Given the description of an element on the screen output the (x, y) to click on. 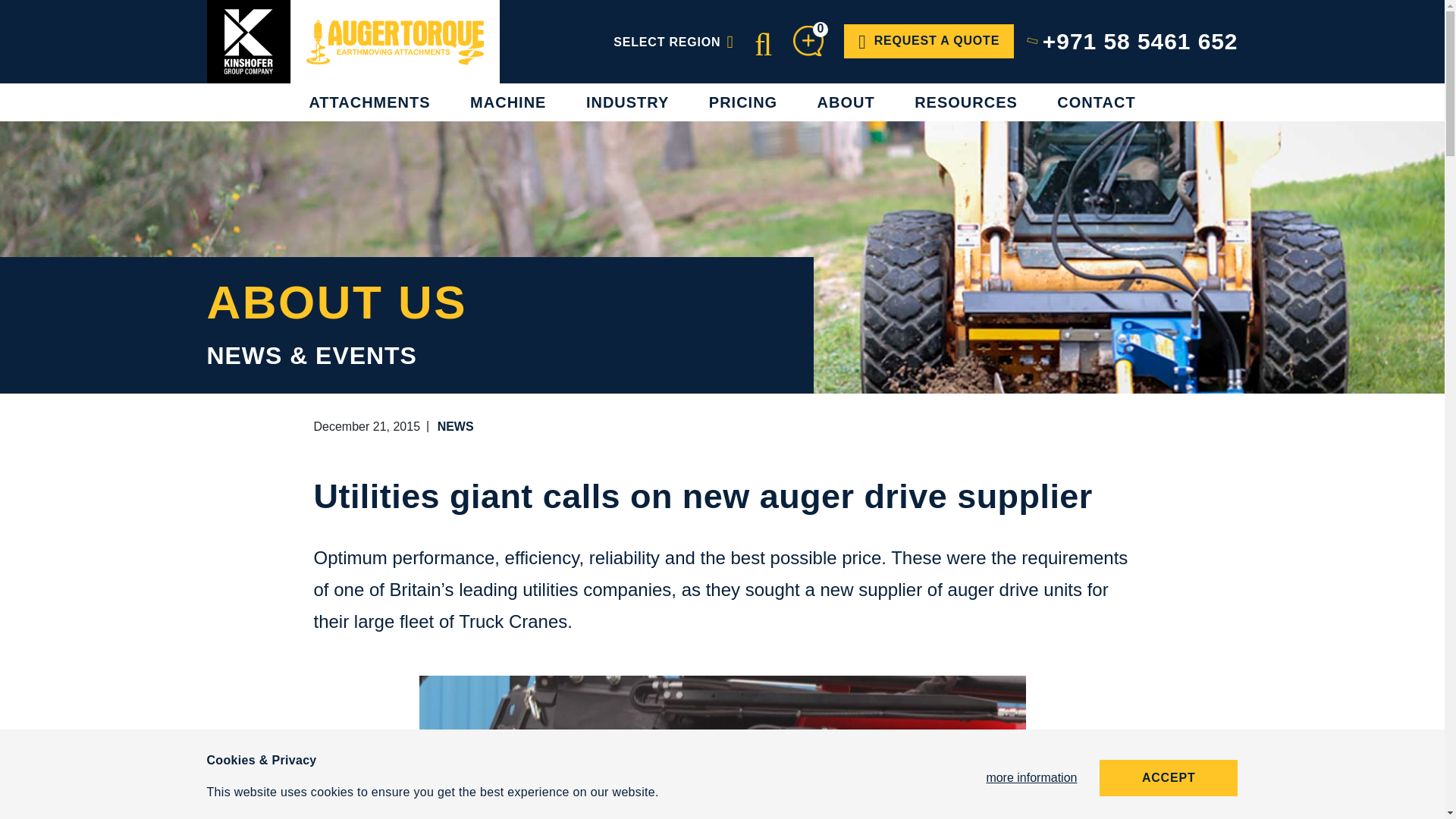
ACCEPT (1169, 778)
more information (1031, 777)
